Given the description of an element on the screen output the (x, y) to click on. 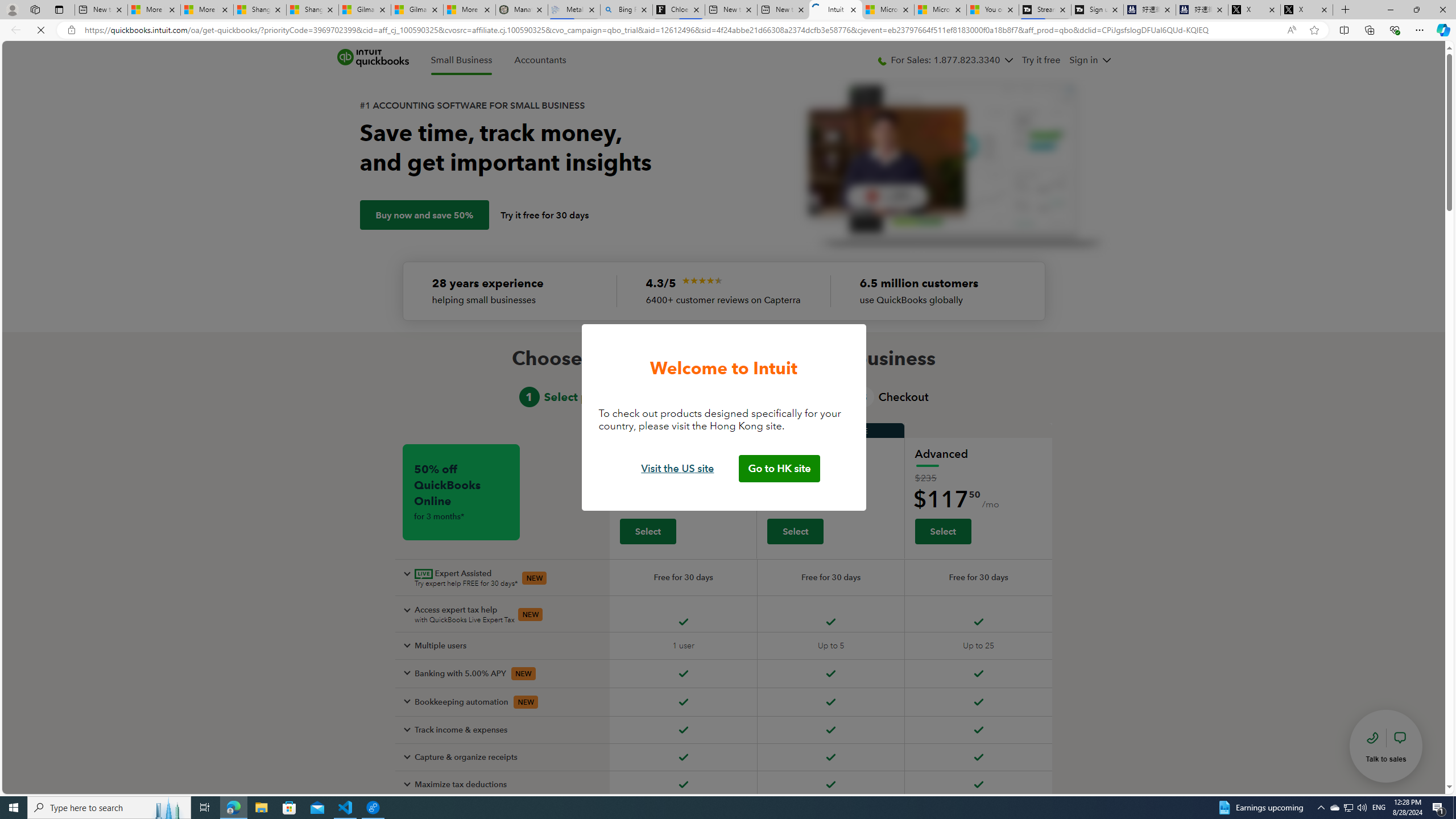
Try it free (1041, 60)
For Sales: 1.877.823.3340 (945, 60)
talk to sales (1385, 746)
Buy now and save 50% (424, 214)
quickbooks (372, 57)
For Sales: 1.877.823.3340 (944, 60)
Try it free (1041, 60)
Chloe Sorvino (678, 9)
